Given the description of an element on the screen output the (x, y) to click on. 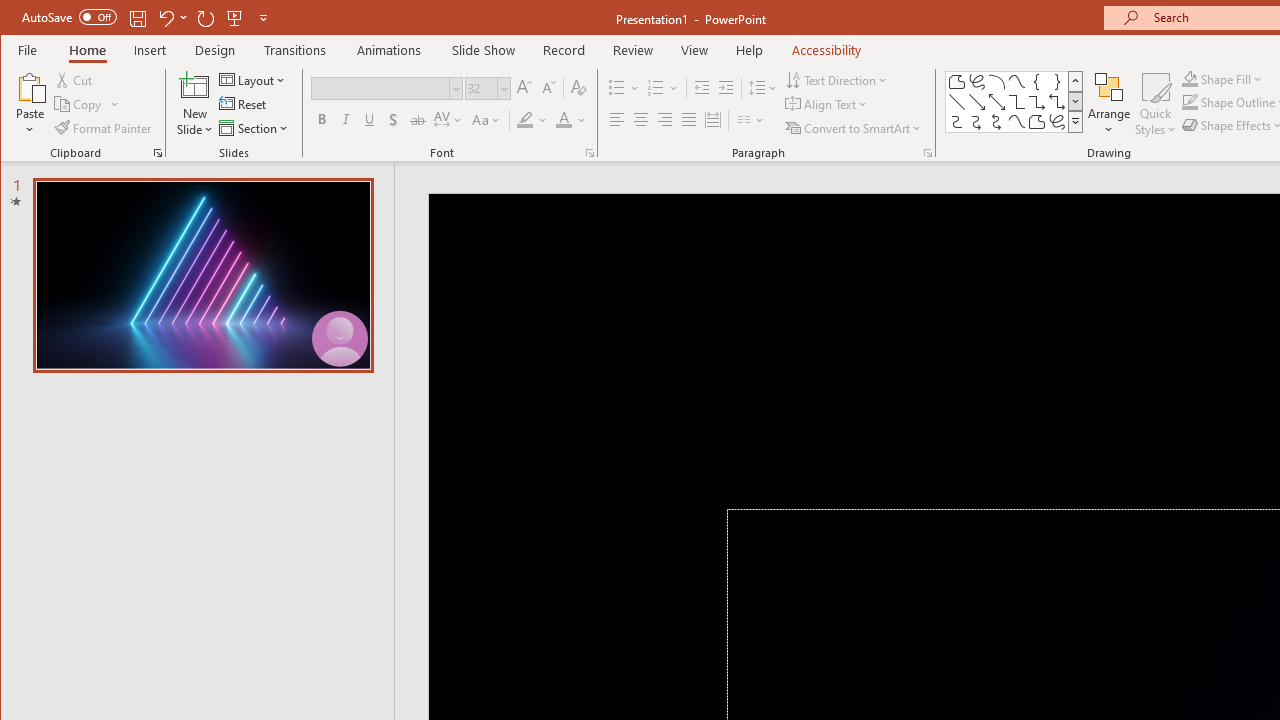
Connector: Curved Arrow (976, 121)
